Given the description of an element on the screen output the (x, y) to click on. 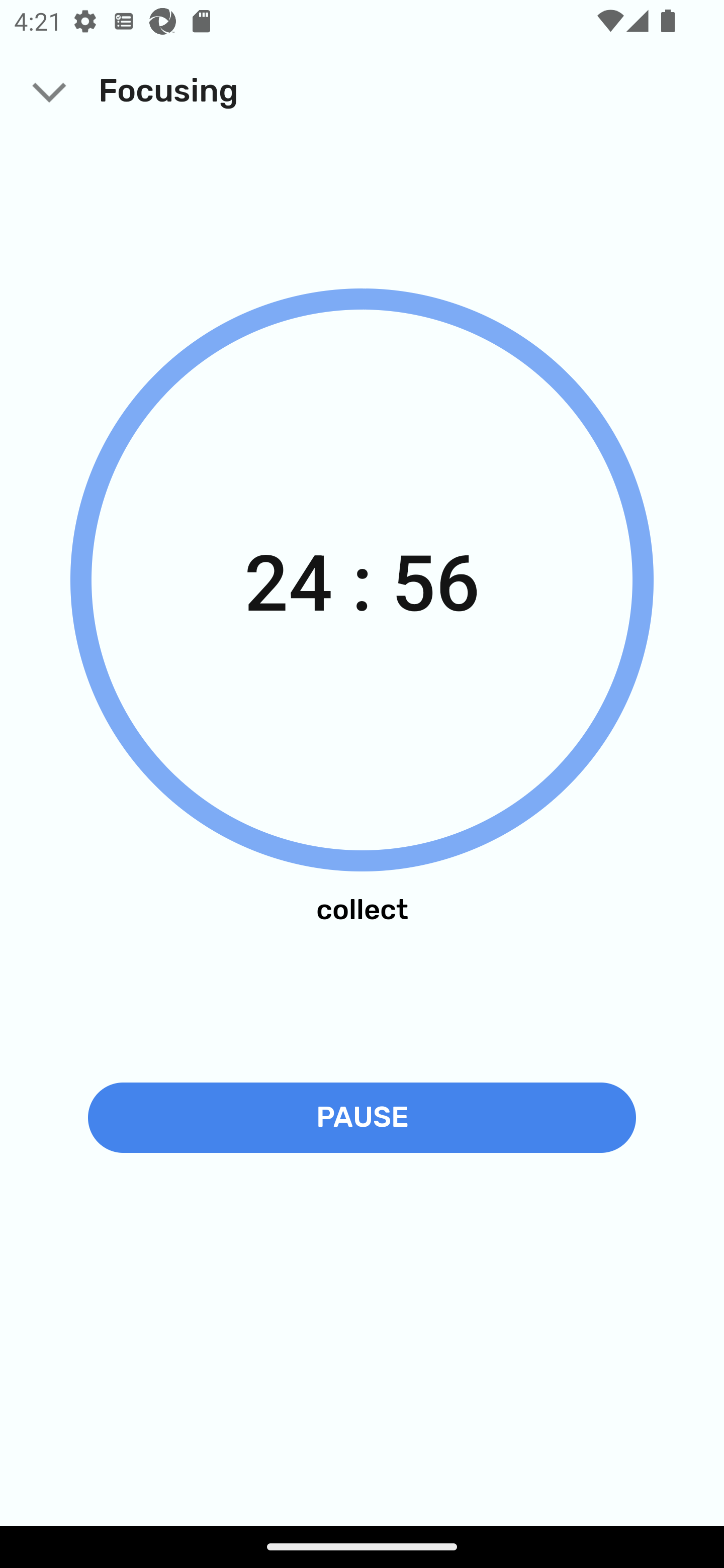
PAUSE (361, 1116)
